Given the description of an element on the screen output the (x, y) to click on. 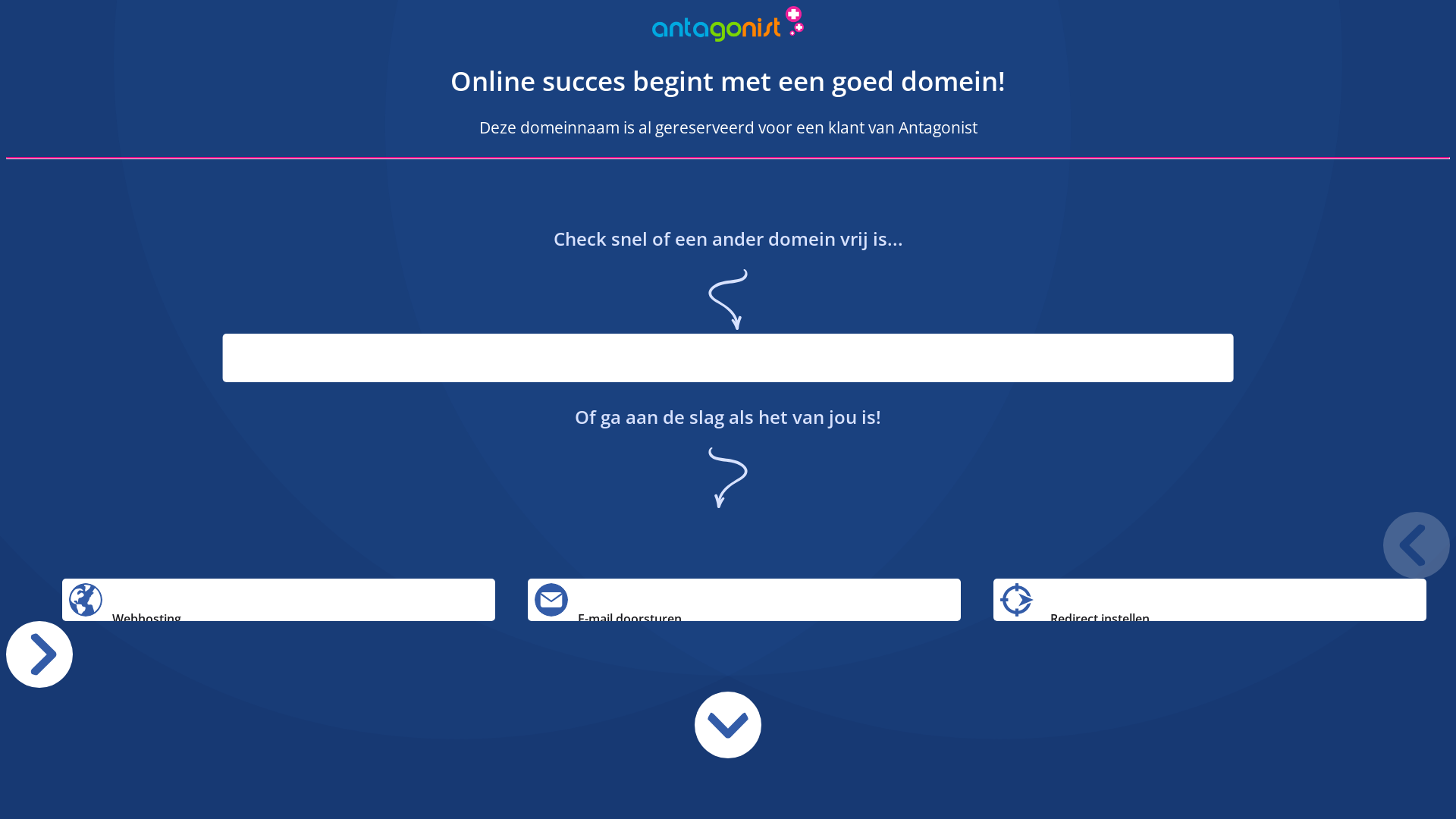
Antagonist-logo Element type: hover (727, 23)
Redirect instellen voor je domein Element type: hover (1016, 599)
Webhosting Element type: text (278, 599)
Check Element type: text (1171, 407)
E-mail doorsturen Element type: text (743, 599)
E-mail doorsturen Element type: hover (551, 599)
Website van Antagonist Element type: hover (442, 36)
Begin met webhosting Element type: hover (85, 599)
> Redirect instellen Element type: text (1209, 599)
